Given the description of an element on the screen output the (x, y) to click on. 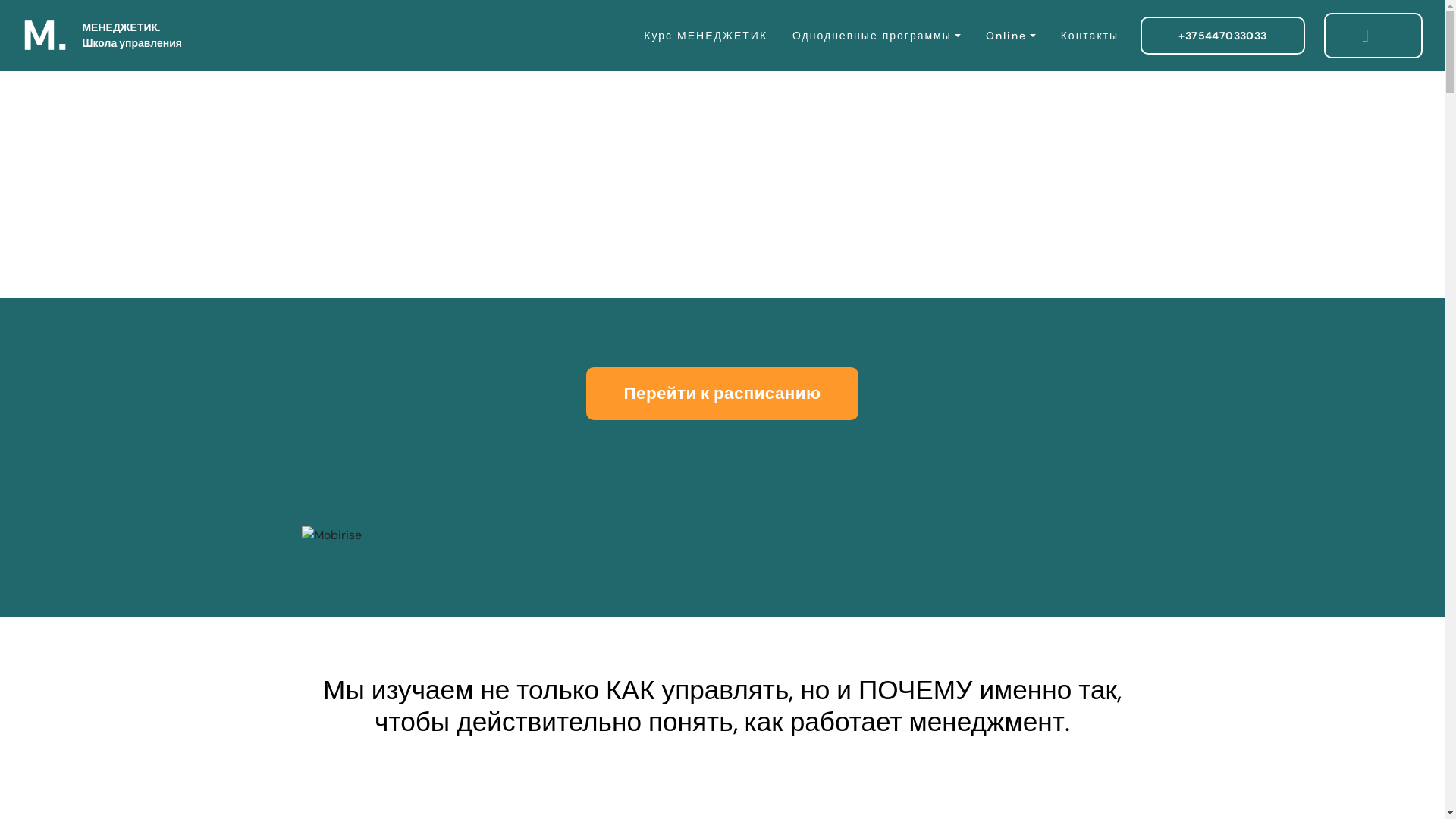
+375447033033 Element type: text (1222, 35)
Online Element type: text (1010, 35)
